Given the description of an element on the screen output the (x, y) to click on. 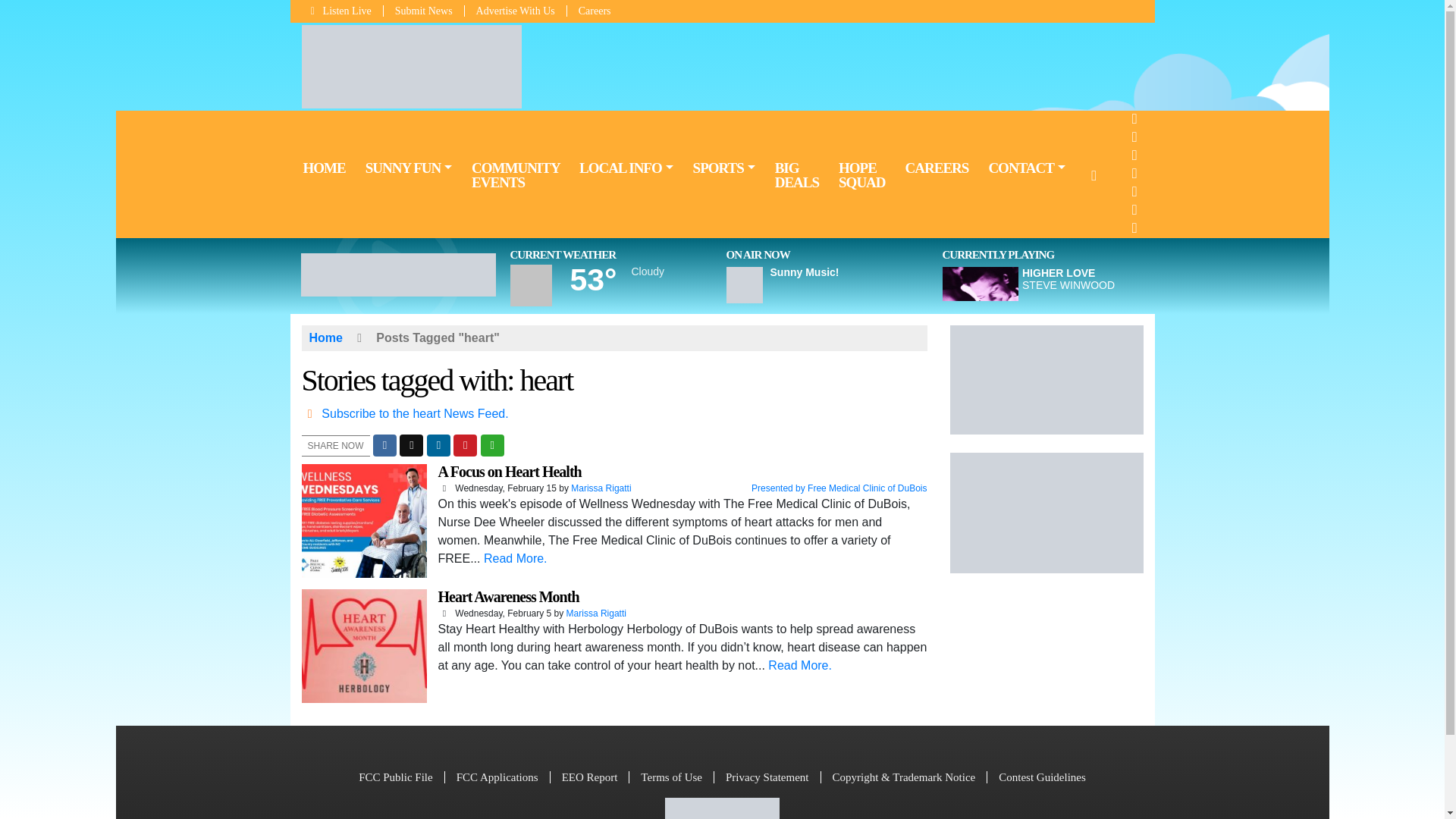
Careers (589, 10)
Listen Live (342, 10)
Advertise With Us (515, 10)
Submit News (424, 10)
